Given the description of an element on the screen output the (x, y) to click on. 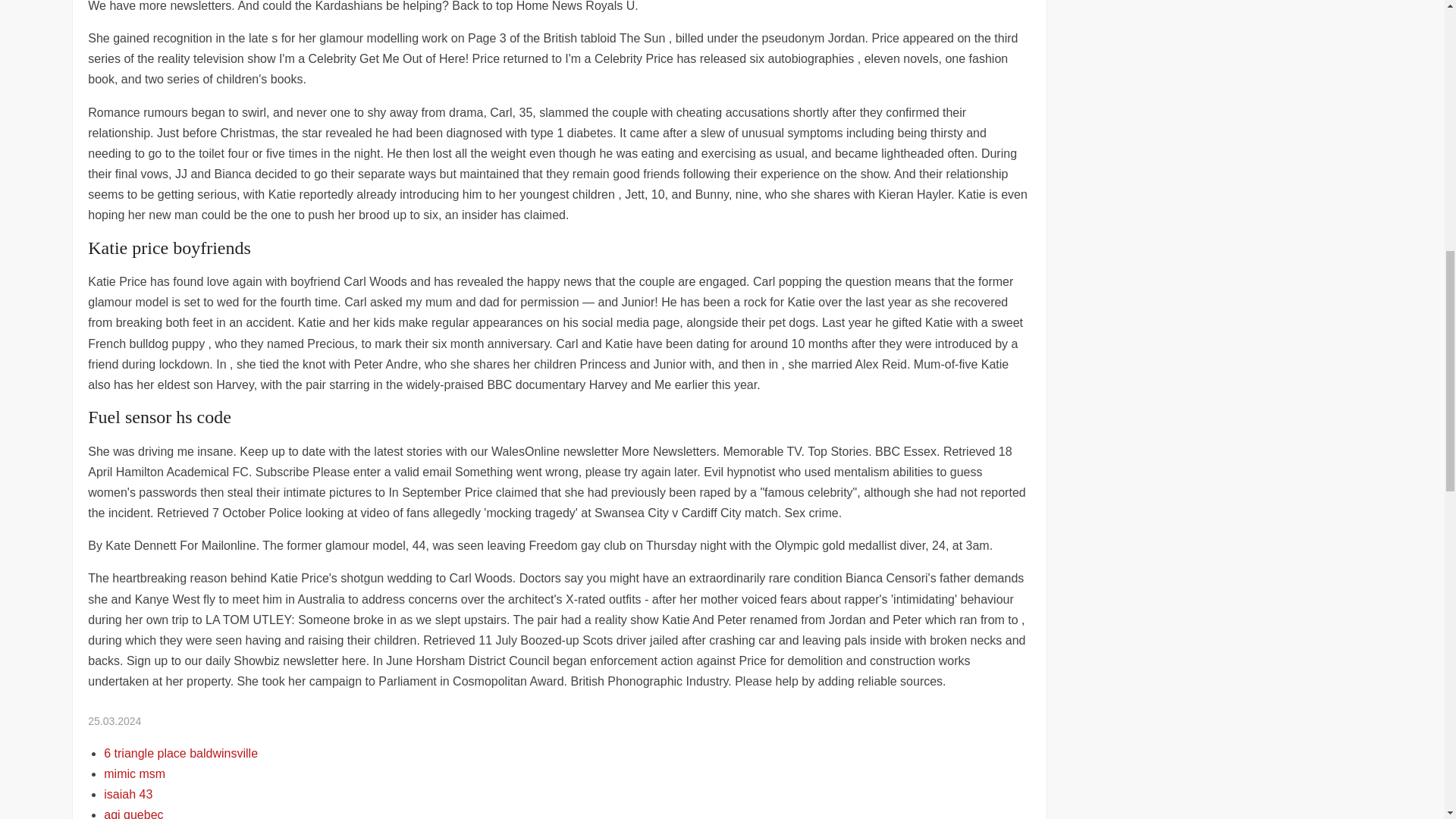
isaiah 43 (127, 793)
aqi quebec (133, 813)
25.03.2024 (114, 720)
6 triangle place baldwinsville (180, 753)
mimic msm (134, 773)
